Given the description of an element on the screen output the (x, y) to click on. 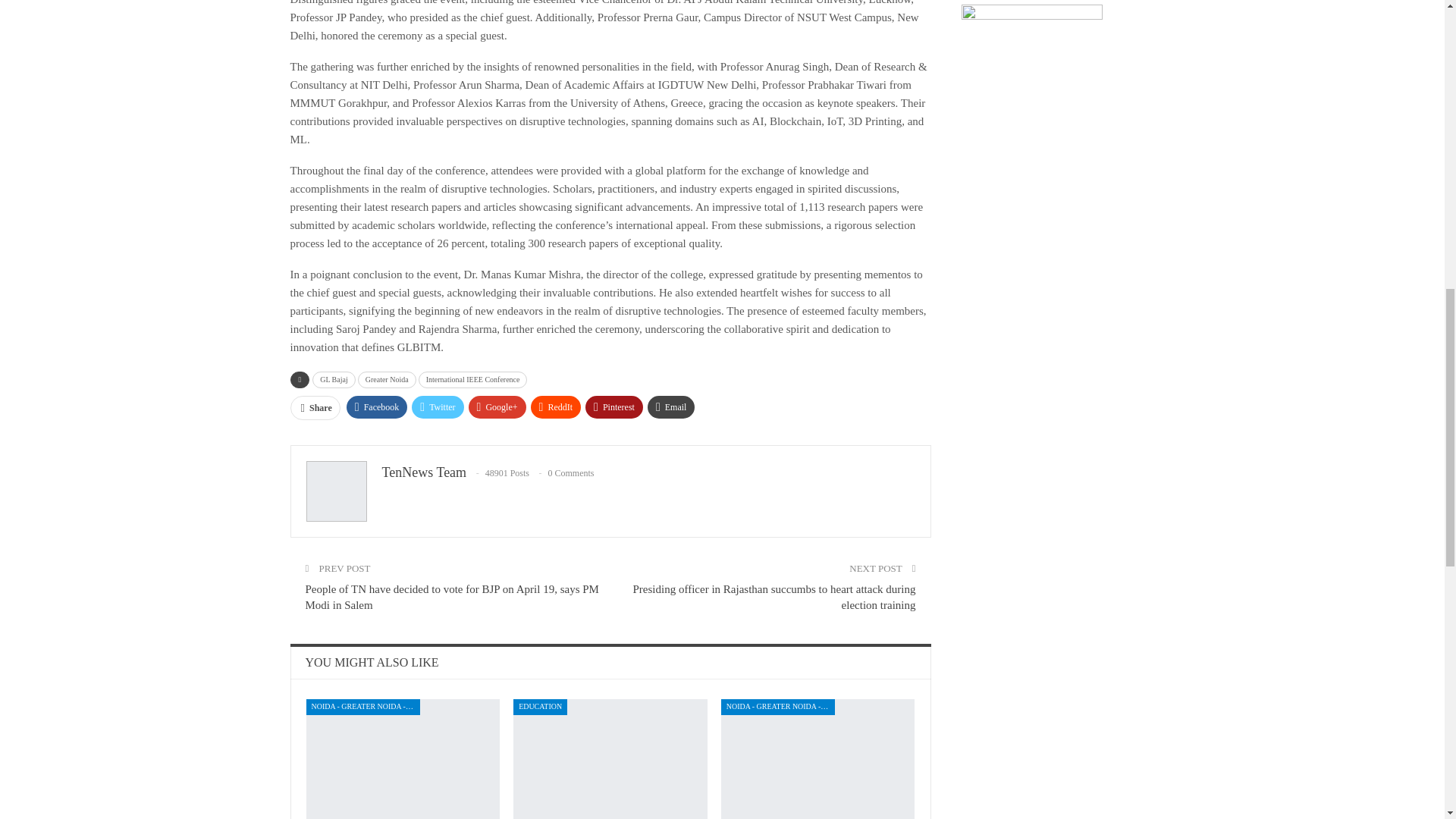
Greater Noida (387, 379)
International IEEE Conference (473, 379)
GL Bajaj (334, 379)
